Given the description of an element on the screen output the (x, y) to click on. 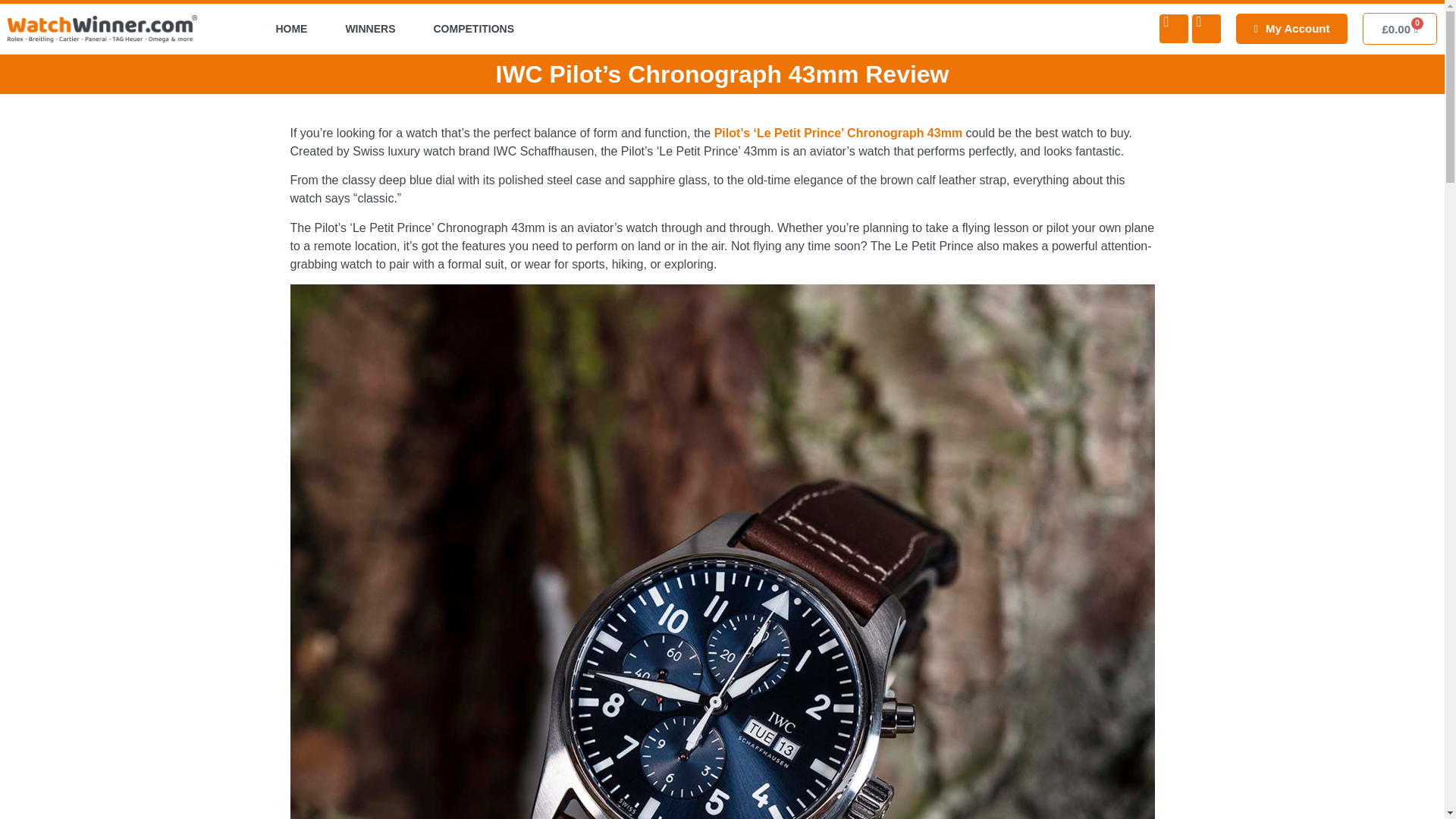
My Account (1292, 28)
WINNERS (370, 28)
COMPETITIONS (474, 28)
HOME (290, 28)
